Given the description of an element on the screen output the (x, y) to click on. 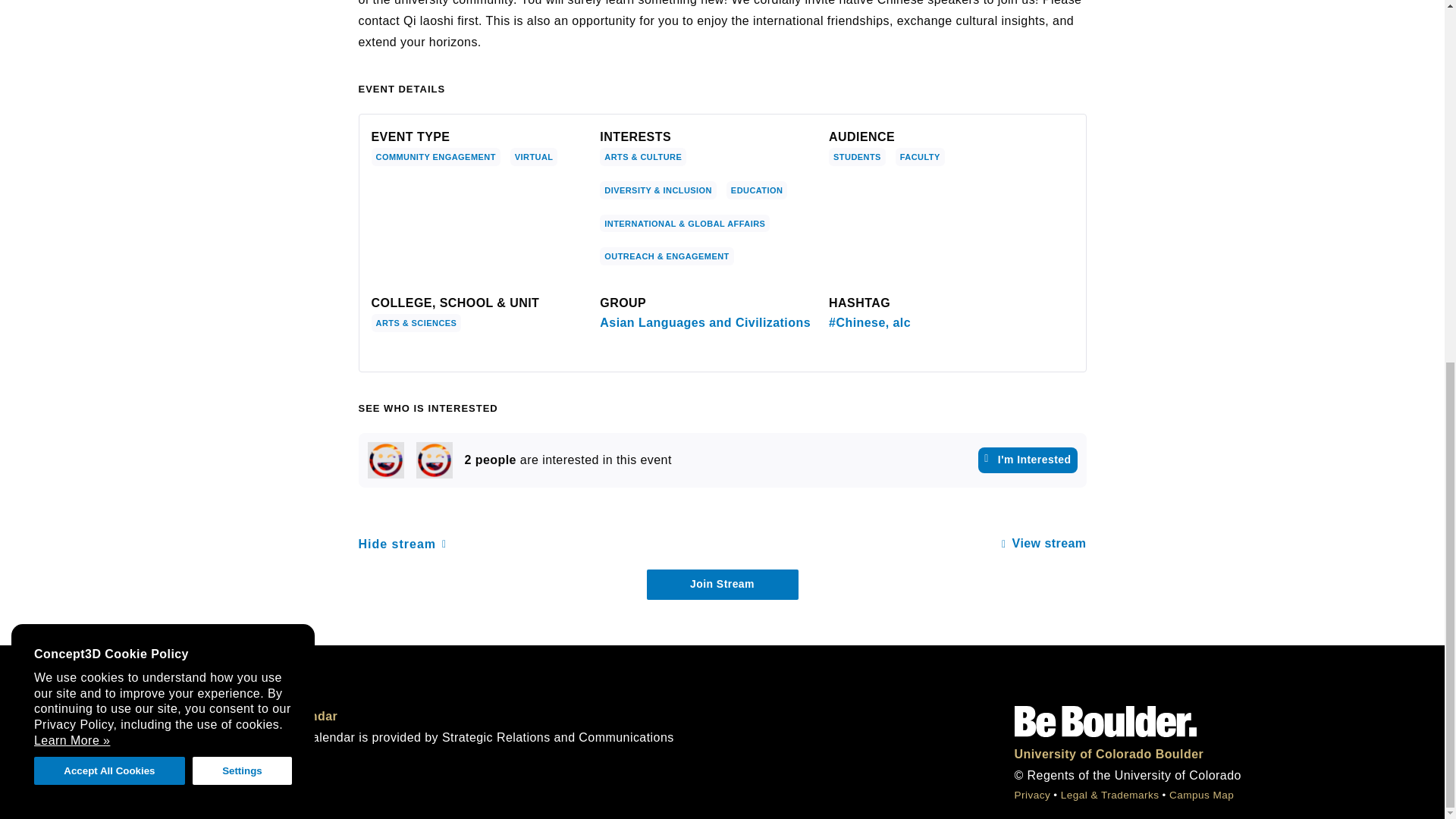
STUDENTS (856, 157)
COMMUNITY ENGAGEMENT (435, 157)
VIRTUAL (534, 157)
EDUCATION (756, 189)
